Given the description of an element on the screen output the (x, y) to click on. 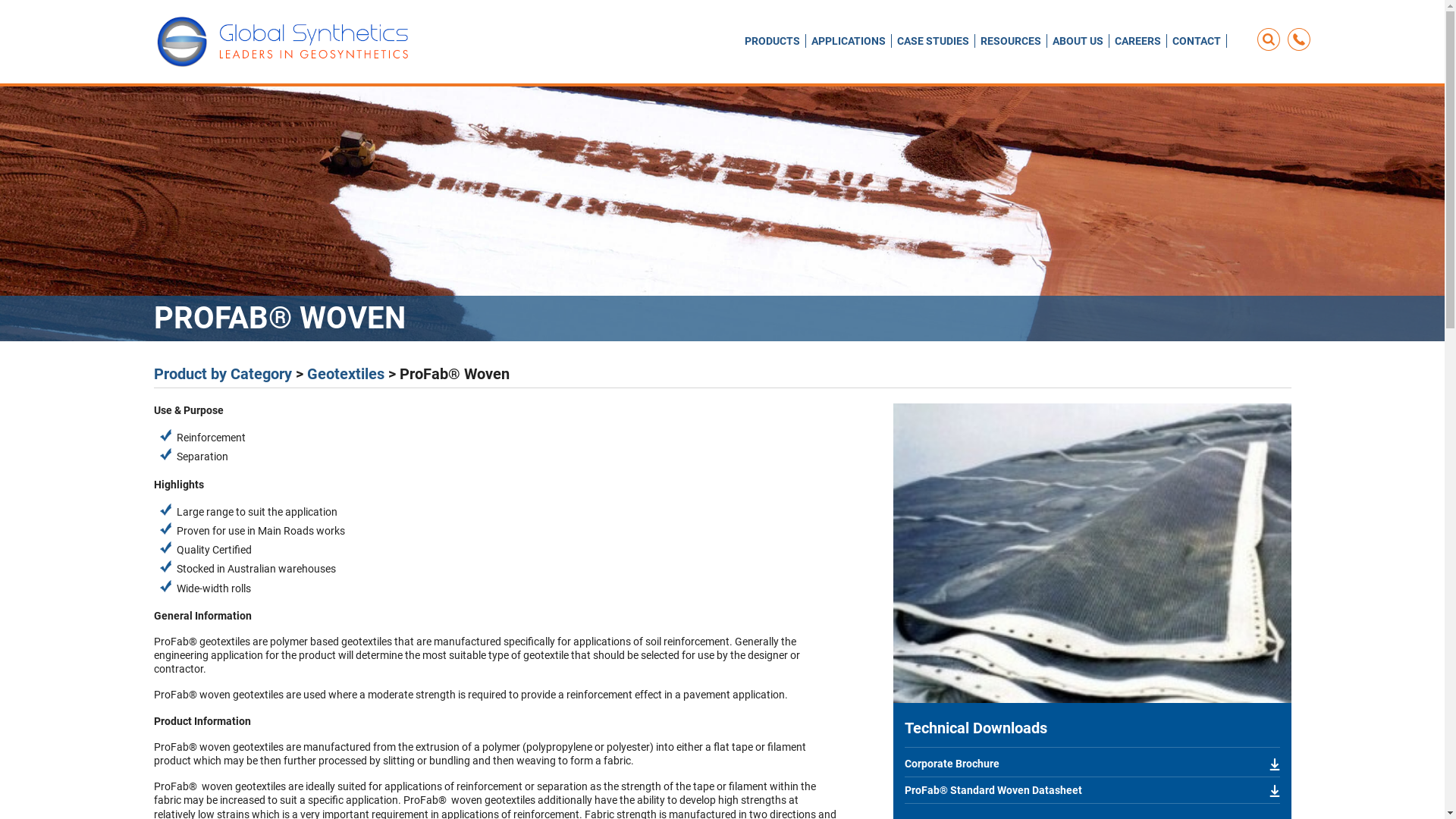
Geotextiles Element type: text (344, 373)
PRODUCTS Element type: text (772, 40)
Phone Element type: hover (1298, 39)
CAREERS Element type: text (1137, 40)
Search Element type: text (1201, 39)
Product by Category Element type: text (222, 373)
ABOUT US Element type: text (1077, 40)
Corporate Brochure Element type: text (1091, 763)
RESOURCES Element type: text (1009, 40)
CONTACT Element type: text (1196, 40)
Global Synthetics Element type: hover (283, 41)
APPLICATIONS Element type: text (848, 40)
CASE STUDIES Element type: text (932, 40)
